Given the description of an element on the screen output the (x, y) to click on. 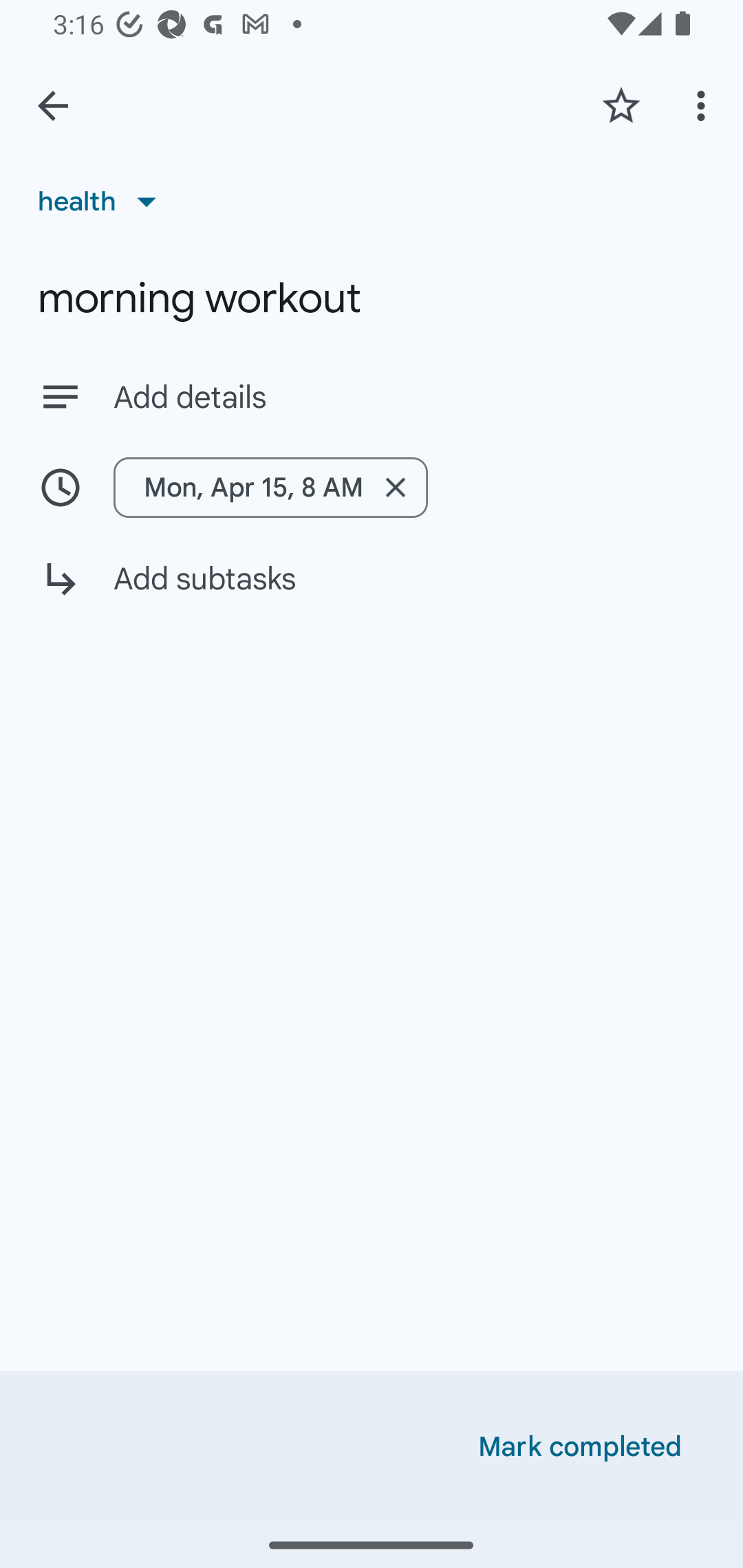
Back (53, 105)
Add star (620, 105)
More options (704, 105)
health List, health selected, 1 of 3 (103, 201)
morning workout (371, 298)
Add details (371, 396)
Add details (409, 397)
Mon, Apr 15, 8 AM Remove date/time (371, 487)
Mon, Apr 15, 8 AM Remove date/time (270, 487)
Add subtasks (371, 593)
Mark completed (580, 1446)
